Given the description of an element on the screen output the (x, y) to click on. 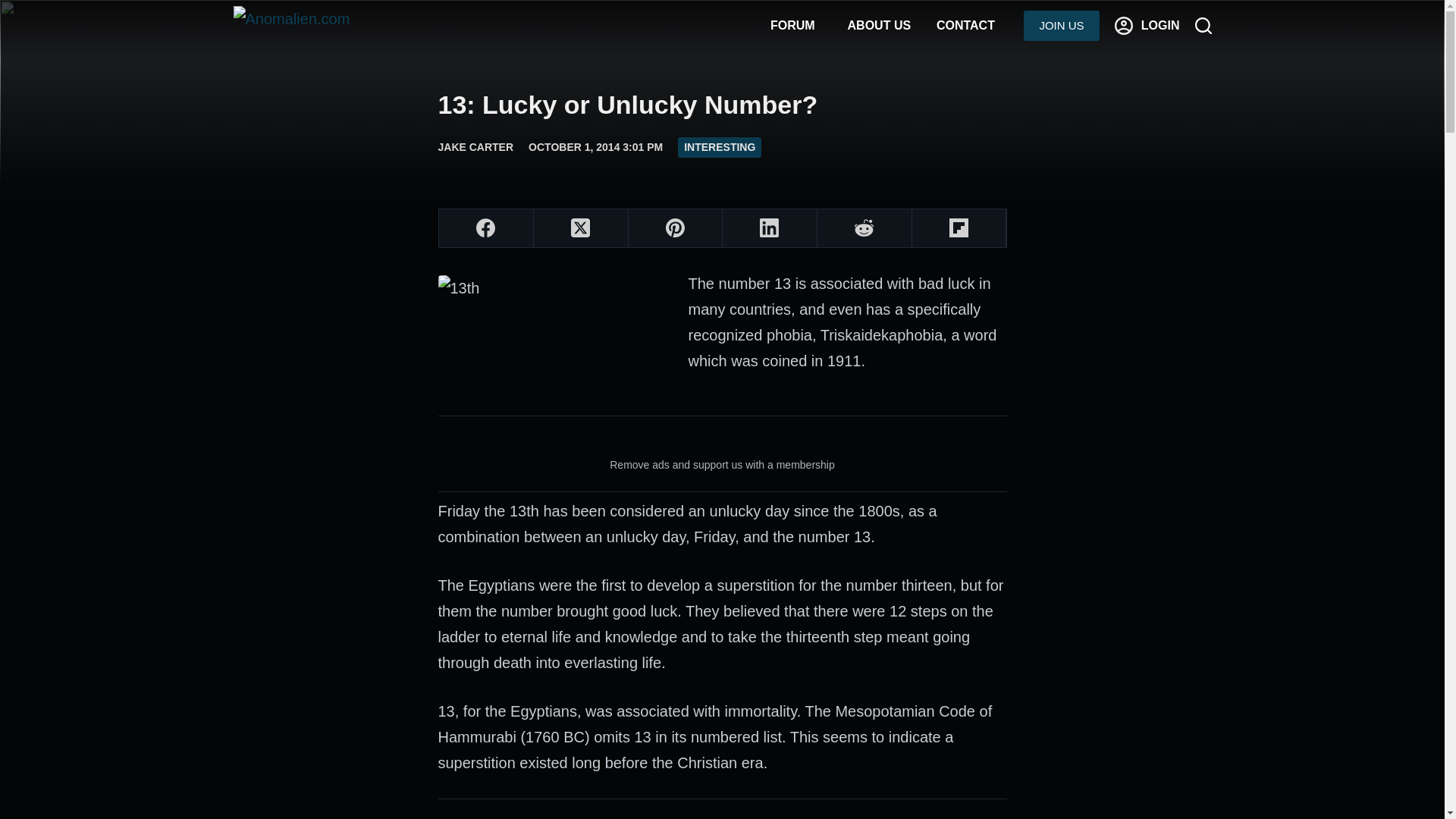
Discussion Forum (792, 25)
Skip to content (15, 7)
Posts by Jake Carter (475, 146)
13: Lucky or Unlucky Number? (722, 104)
